Given the description of an element on the screen output the (x, y) to click on. 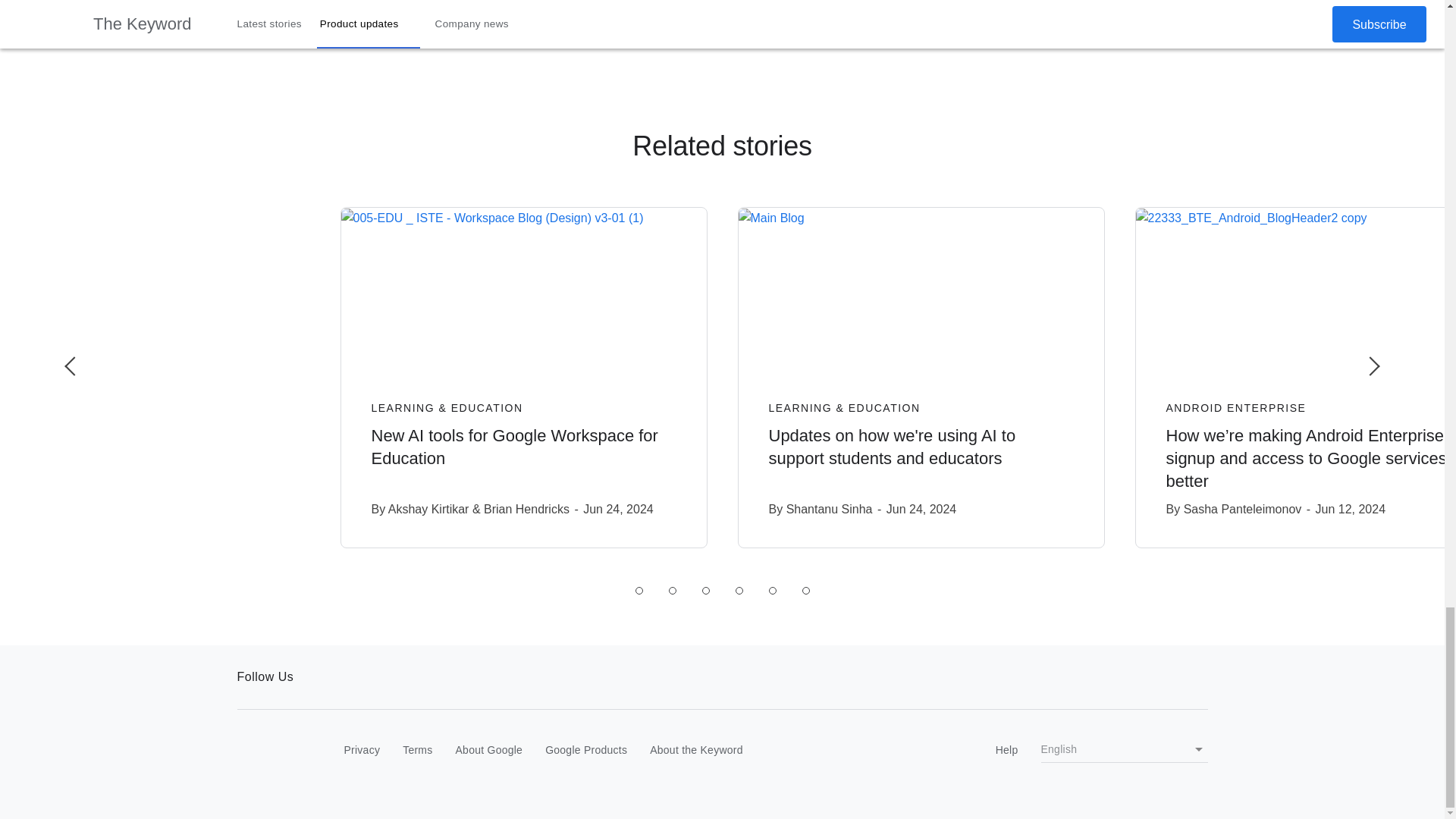
Google (268, 750)
